Given the description of an element on the screen output the (x, y) to click on. 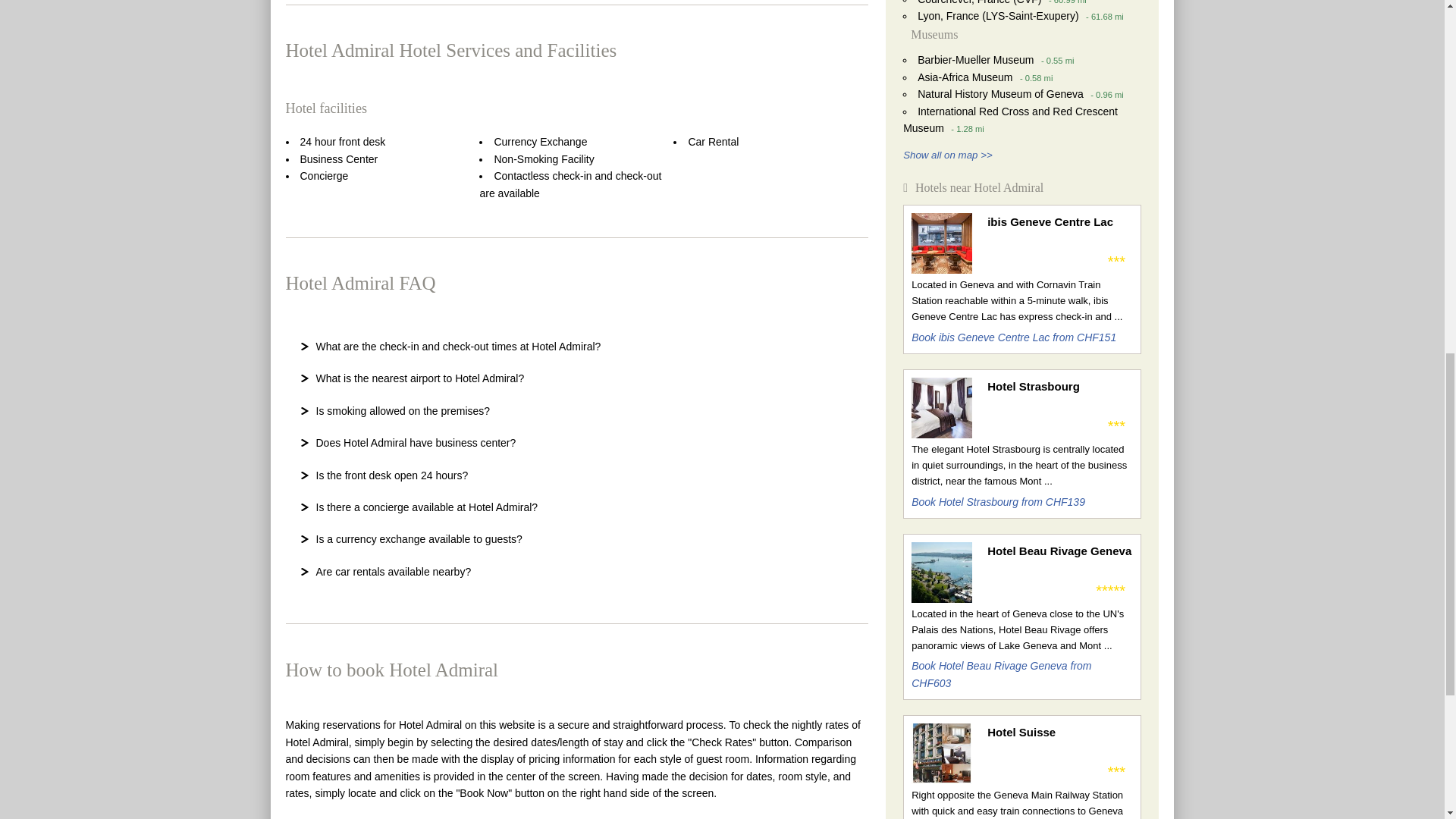
Book Hotel Beau Rivage Geneva from CHF603 (1000, 674)
Book ibis Geneve Centre Lac from CHF151 (1013, 337)
Book Hotel Strasbourg from CHF139 (997, 501)
Hotel Strasbourg (1059, 386)
ibis Geneve Centre Lac (1059, 221)
Hotel Suisse (1059, 732)
Hotel Beau Rivage Geneva (1059, 551)
